Given the description of an element on the screen output the (x, y) to click on. 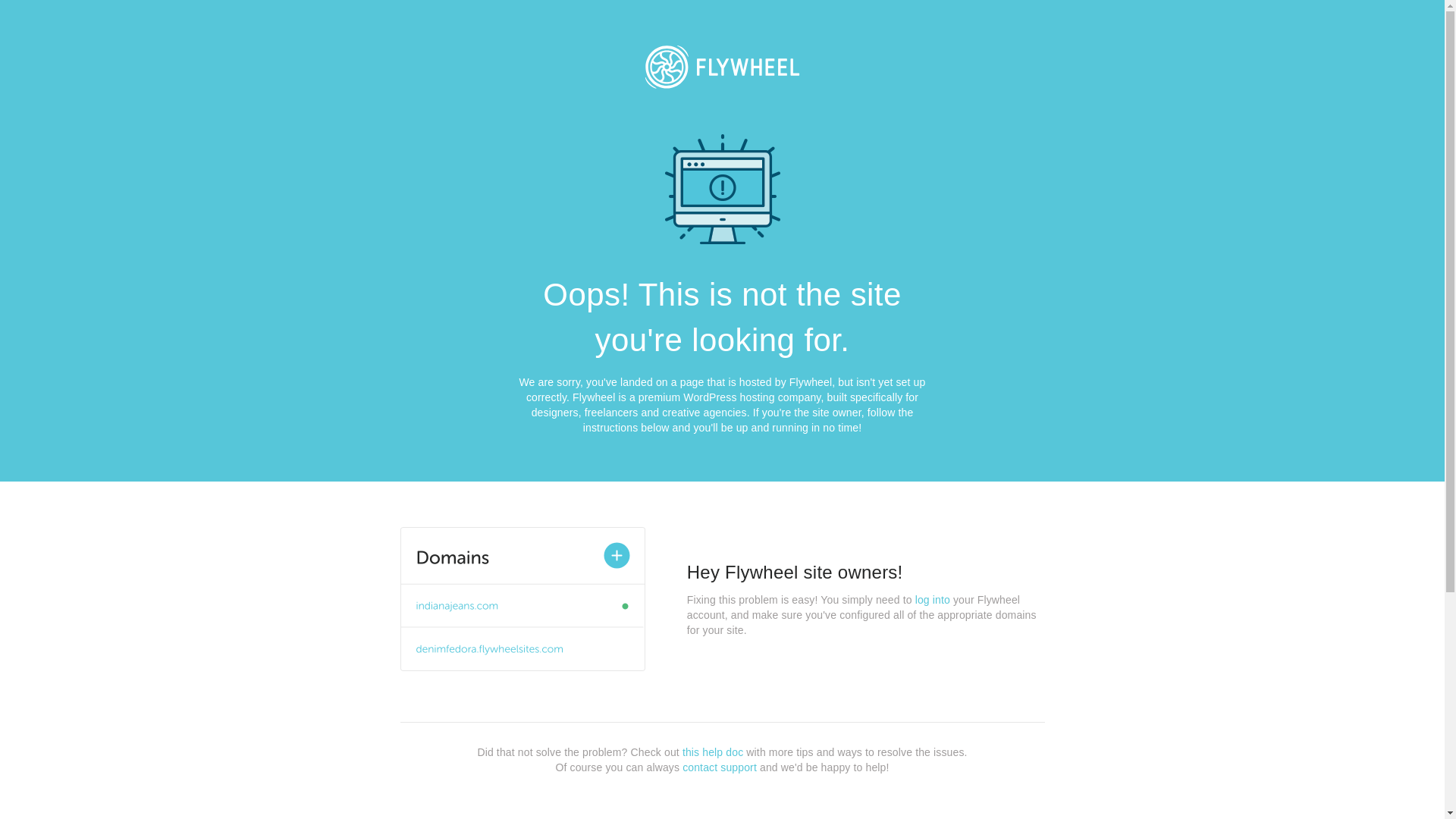
log into (932, 599)
contact support (719, 767)
this help doc (712, 752)
